Given the description of an element on the screen output the (x, y) to click on. 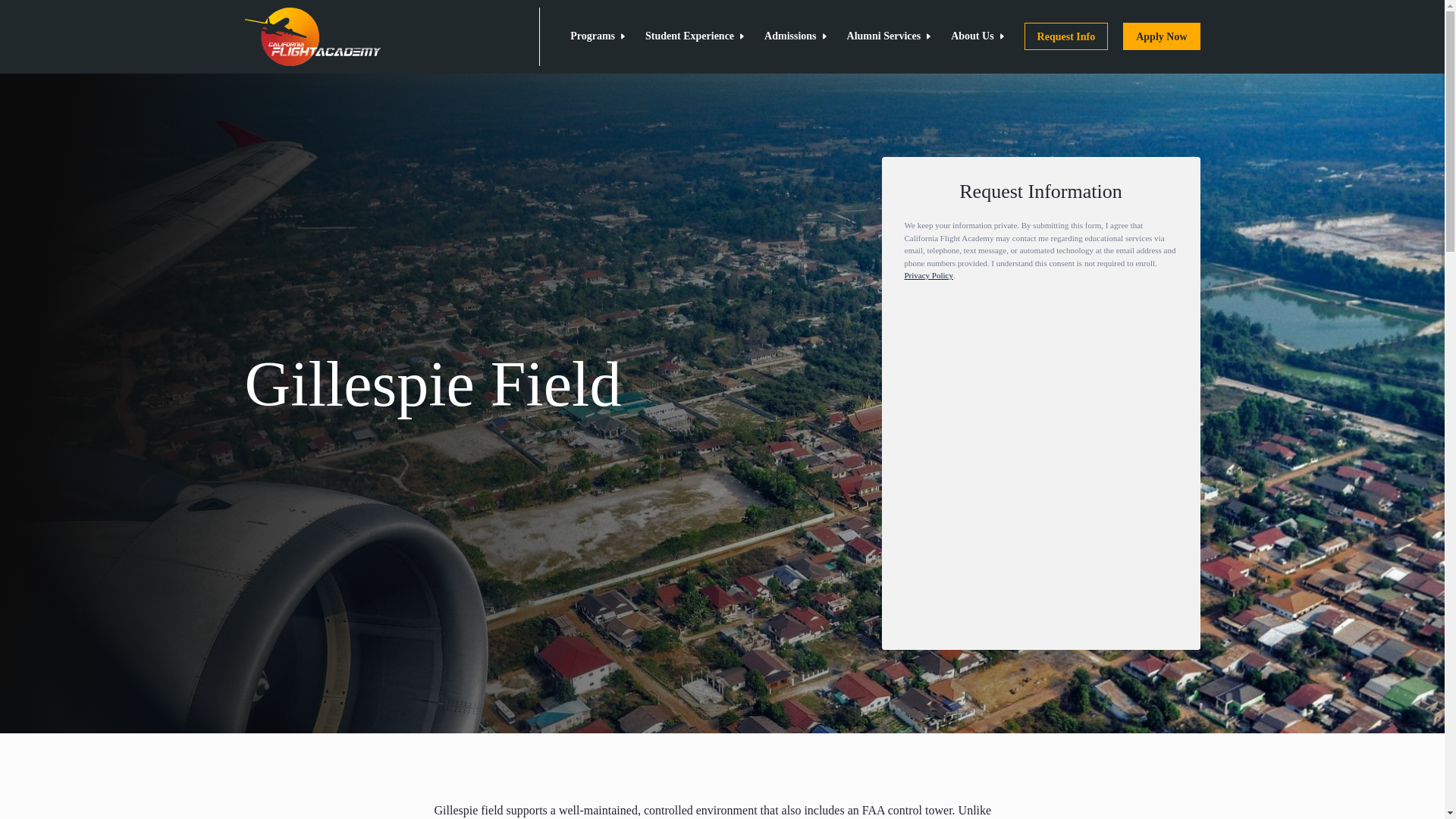
Student Experience (689, 36)
Programs (592, 36)
